Given the description of an element on the screen output the (x, y) to click on. 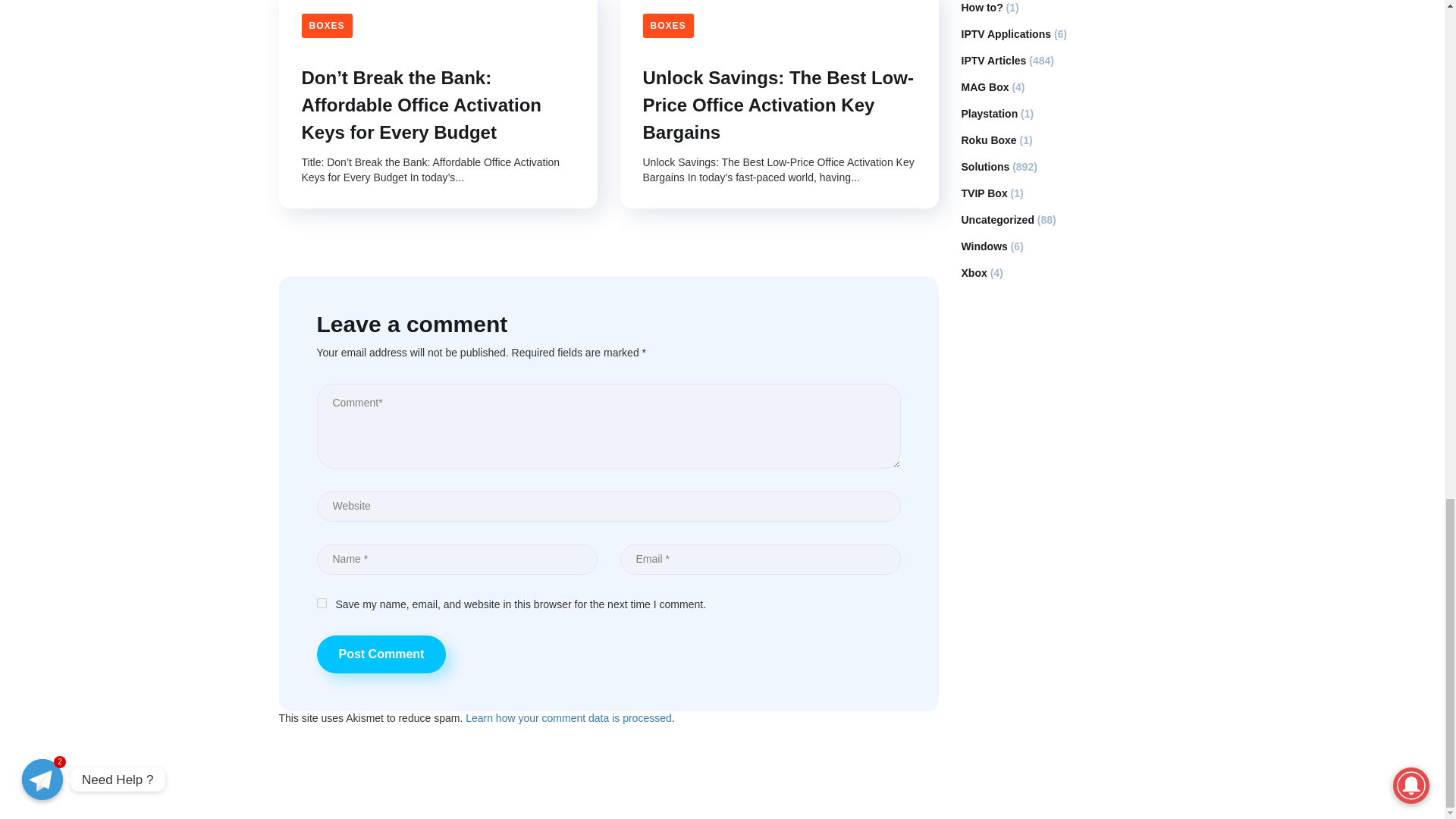
BOXES (668, 25)
Post Comment (381, 654)
BOXES (326, 25)
yes (321, 603)
